Given the description of an element on the screen output the (x, y) to click on. 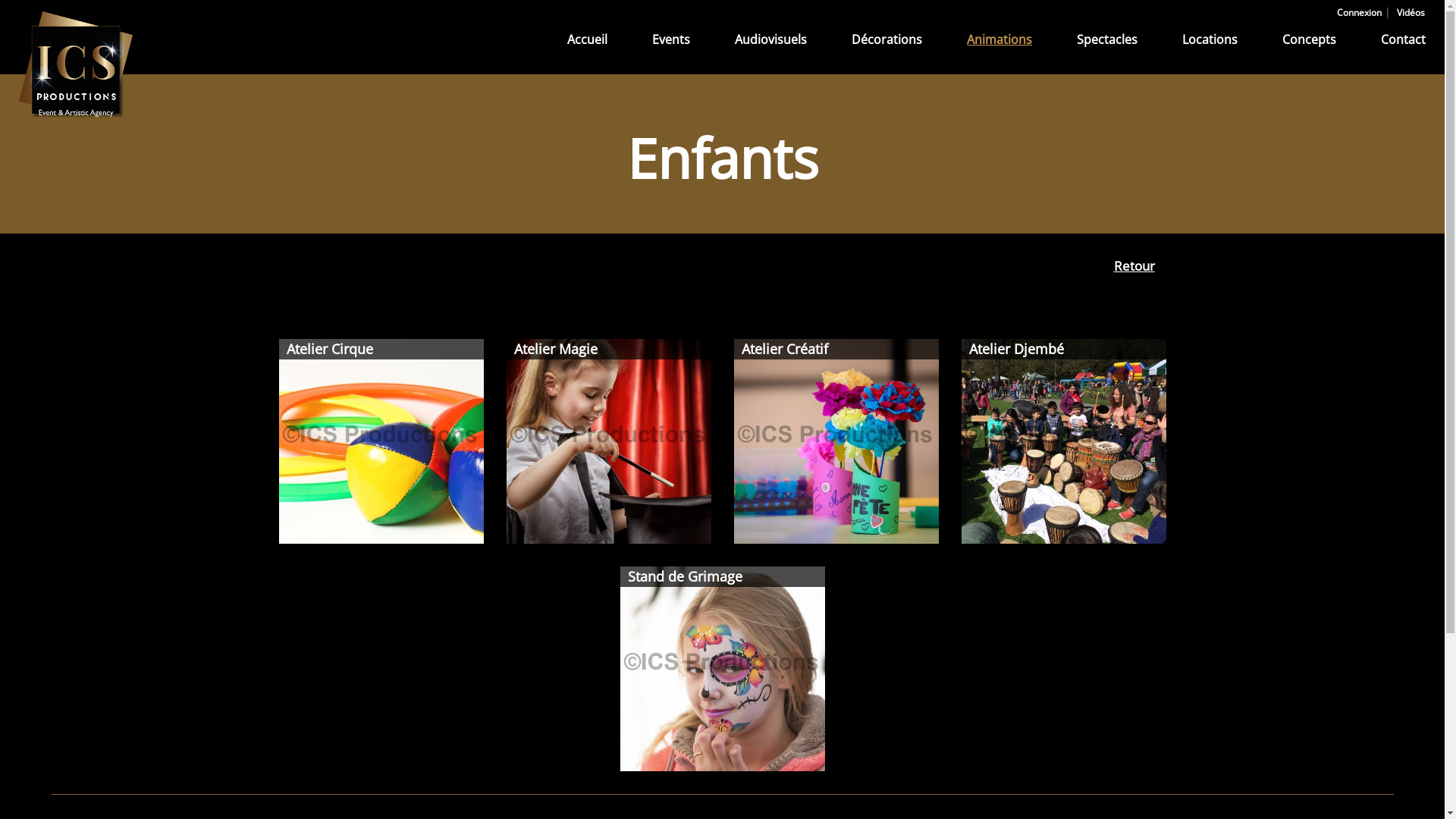
Events Element type: text (671, 39)
Atelier Cirque Element type: text (381, 440)
Connexion Element type: text (1358, 12)
Contact Element type: text (1402, 39)
Spectacles Element type: text (1106, 39)
Atelier Magie Element type: text (608, 440)
Concepts Element type: text (1309, 39)
Retour Element type: text (1133, 265)
Animations Element type: text (999, 39)
Locations Element type: text (1209, 39)
Audiovisuels Element type: text (770, 39)
Stand de Grimage Element type: text (722, 668)
Accueil Element type: text (587, 39)
